Given the description of an element on the screen output the (x, y) to click on. 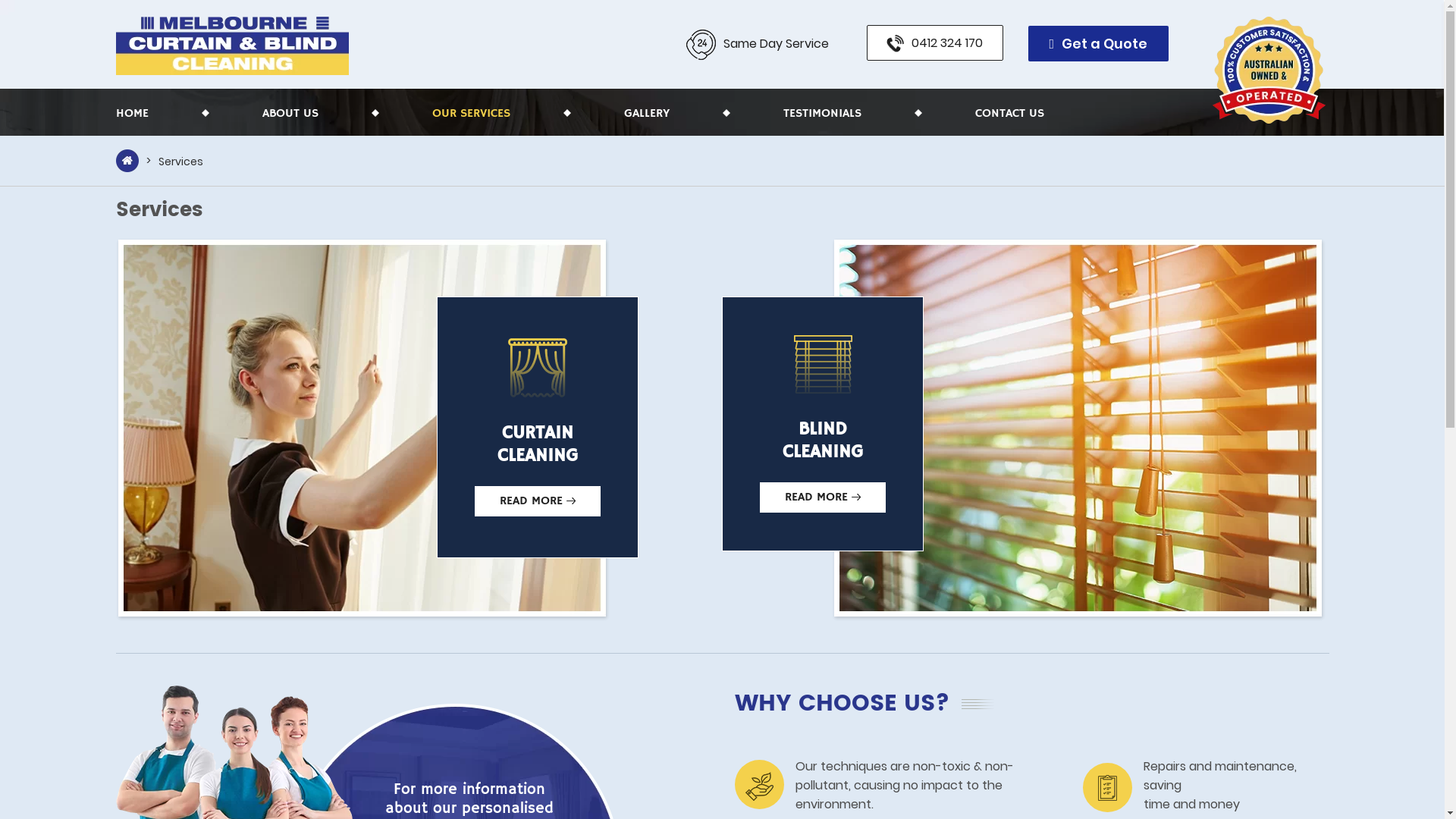
HOME Element type: text (131, 113)
Get a Quote Element type: text (1098, 43)
TESTIMONIALS Element type: text (821, 113)
OUR SERVICES Element type: text (471, 113)
READ MORE Element type: text (822, 497)
CONTACT US Element type: text (1009, 113)
ABOUT US Element type: text (290, 113)
READ MORE Element type: text (537, 501)
0412 324 170 Element type: text (934, 42)
GALLERY Element type: text (645, 113)
